Given the description of an element on the screen output the (x, y) to click on. 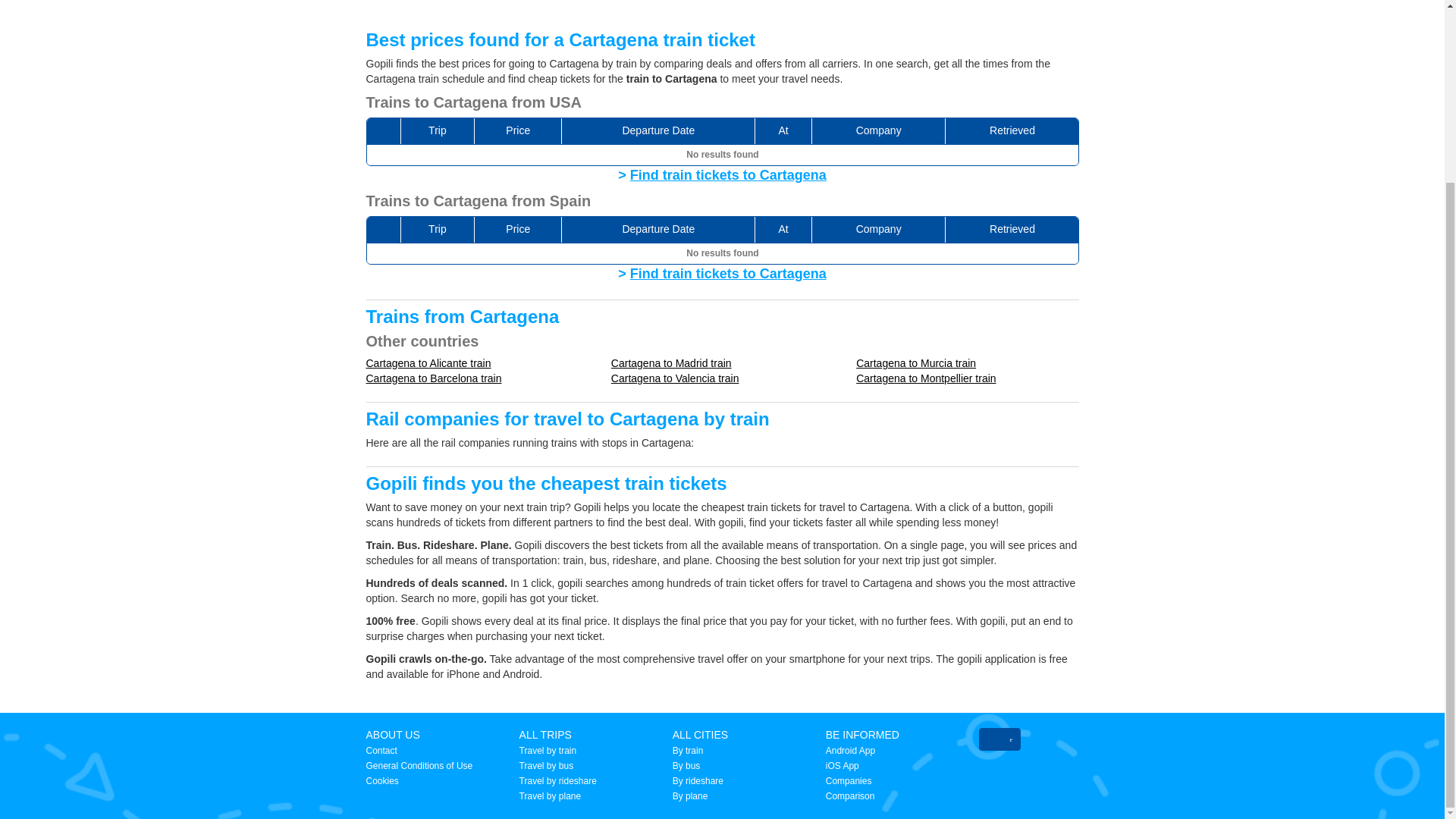
Companies (848, 780)
By train (687, 750)
By bus (686, 765)
Cartagena to Barcelona train (432, 378)
Contact (380, 750)
Comparison (850, 796)
Cartagena to Murcia train (915, 363)
By plane (689, 796)
Android App (850, 750)
iOS App (842, 765)
